Given the description of an element on the screen output the (x, y) to click on. 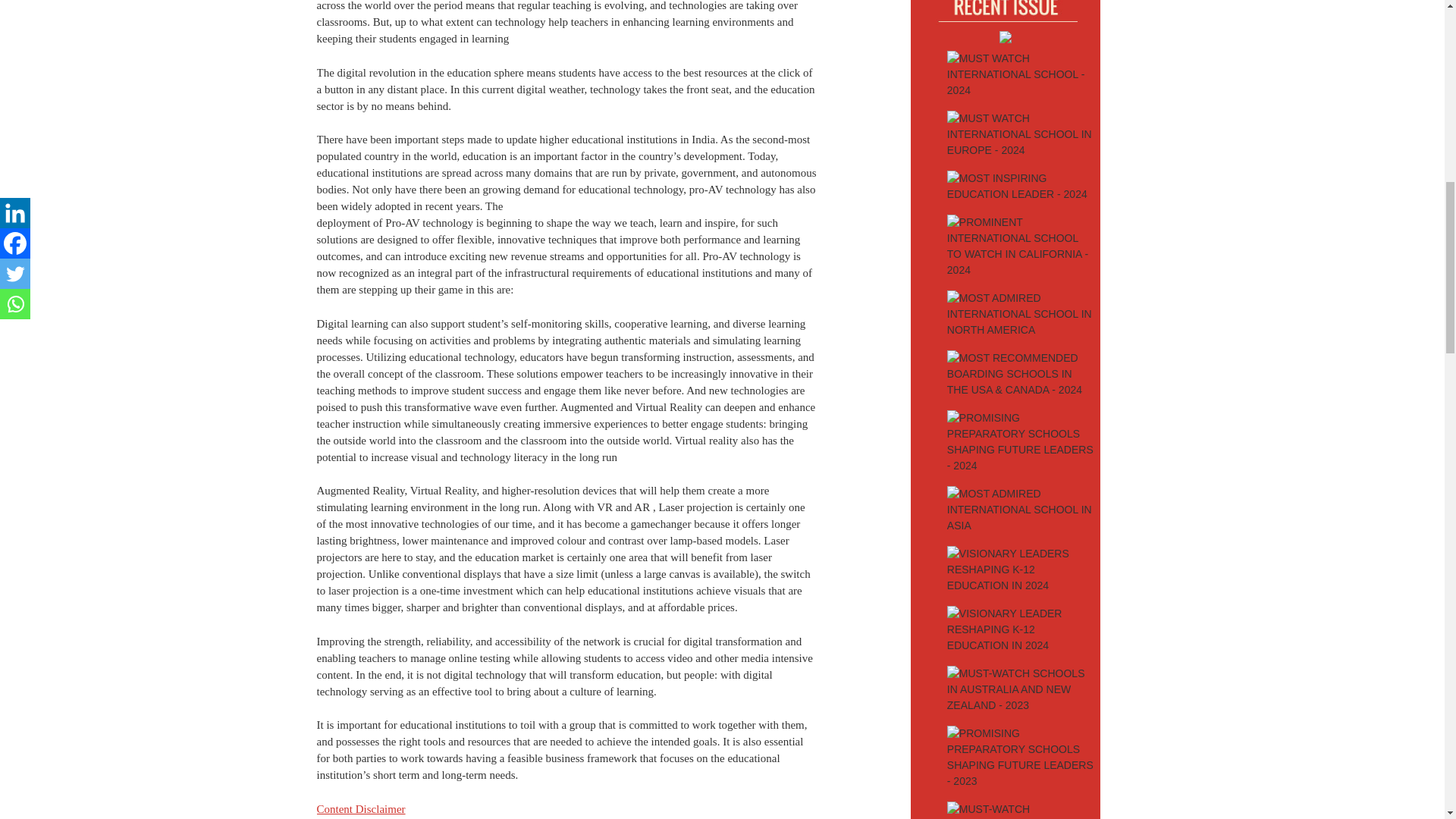
Content Disclaimer (361, 808)
MUST WATCH INTERNATIONAL SCHOOL - 2024 (1020, 74)
MOST INSPIRING EDUCATION LEADER - 2024 (1020, 186)
PROMINENT INTERNATIONAL SCHOOL TO WATCH IN CALIFORNIA - 2024 (1020, 245)
MOST ADMIRED INTERNATIONAL SCHOOL IN NORTH AMERICA (1020, 314)
MUST WATCH INTERNATIONAL SCHOOL IN EUROPE - 2024 (1020, 134)
